Given the description of an element on the screen output the (x, y) to click on. 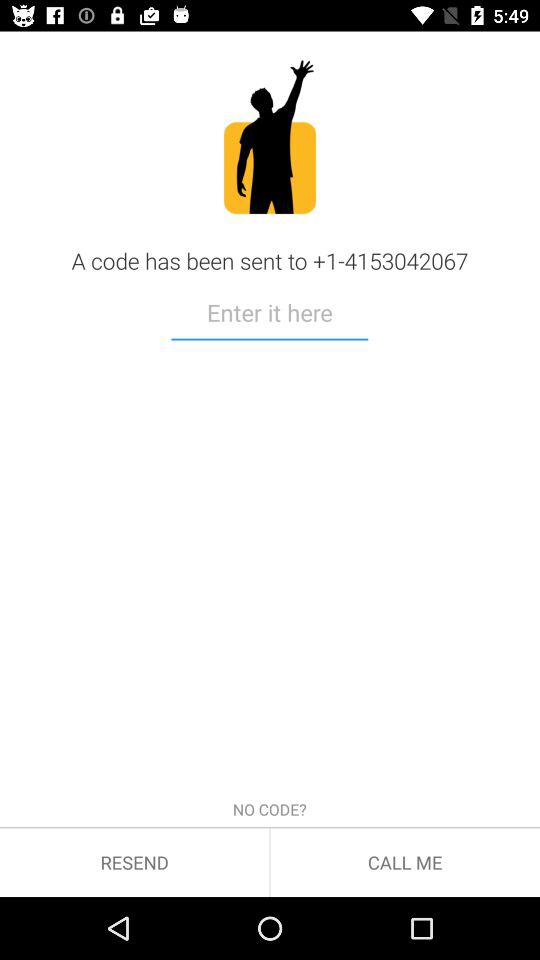
flip to the call me (405, 862)
